Given the description of an element on the screen output the (x, y) to click on. 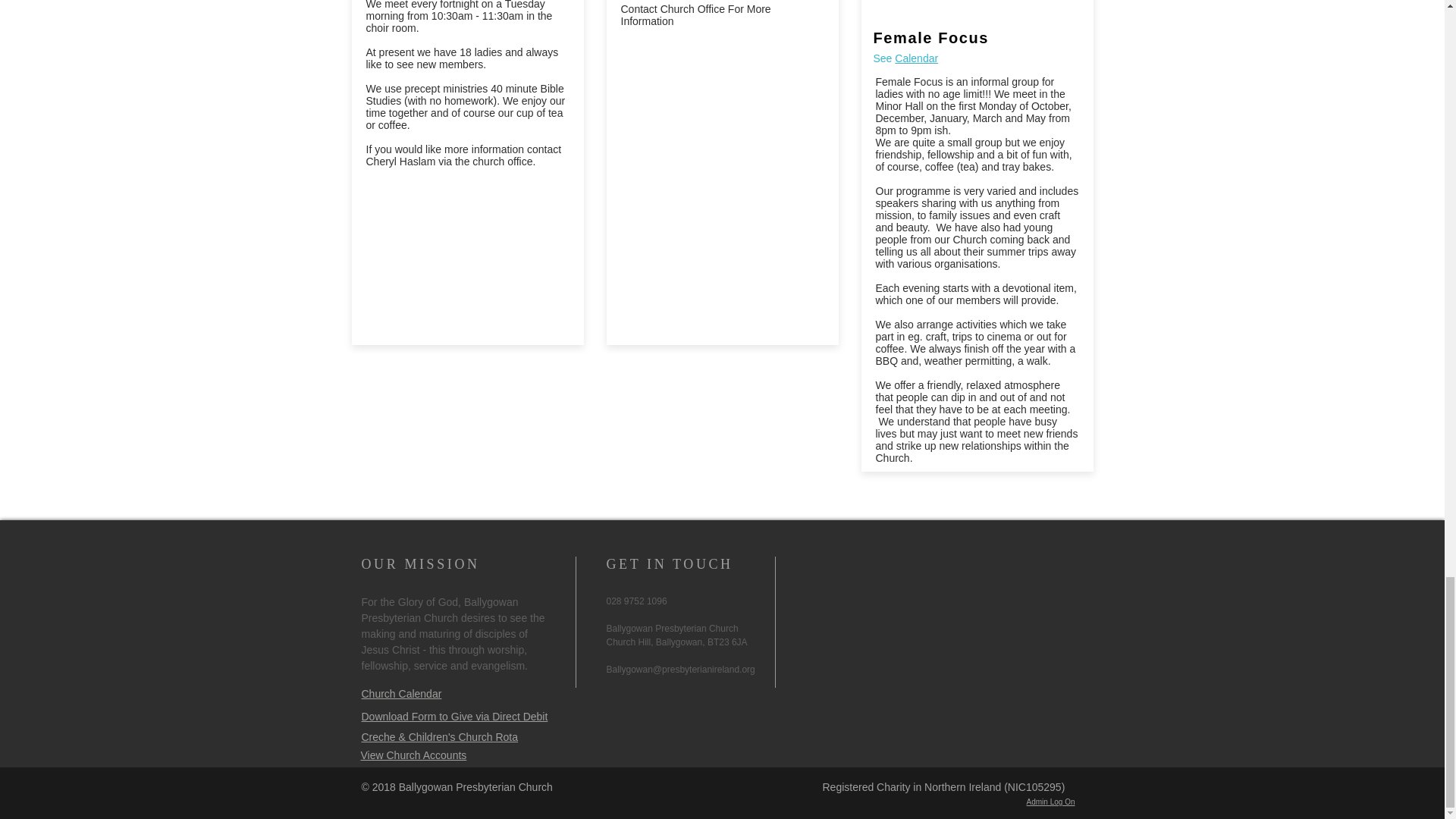
Church Calendar (401, 693)
View Church Accounts (414, 755)
Download Form to Give via Direct Debit (454, 715)
Calendar (916, 57)
Admin Log On (1050, 801)
